Given the description of an element on the screen output the (x, y) to click on. 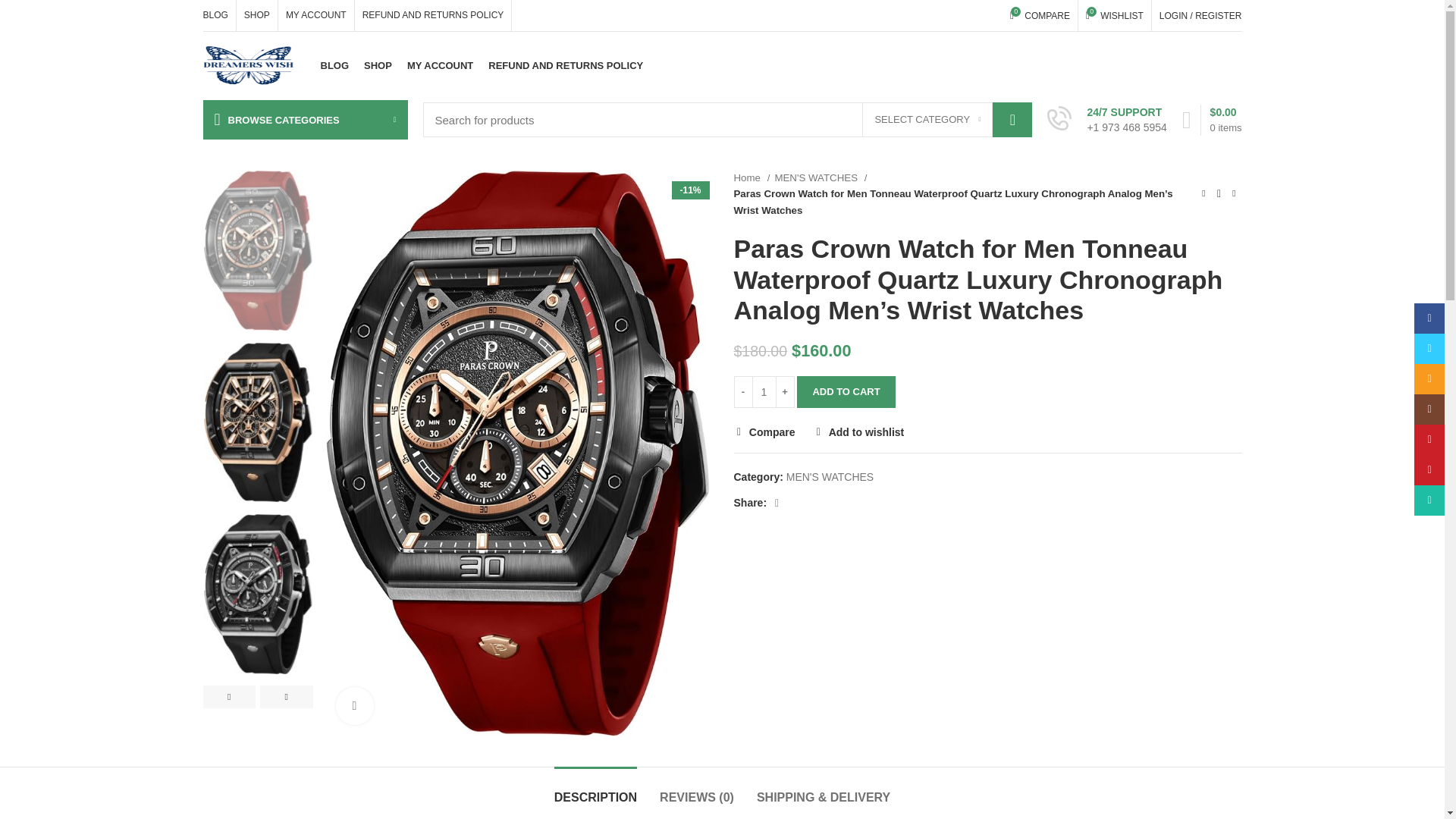
Search for products (727, 119)
BLOG (334, 65)
BLOG (215, 15)
My account (1200, 15)
REFUND AND RETURNS POLICY (433, 15)
SELECT CATEGORY (1114, 15)
SHOP (926, 119)
REFUND AND RETURNS POLICY (256, 15)
SELECT CATEGORY (565, 65)
Compare products (926, 119)
SHOP (1040, 15)
My Wishlist (1040, 15)
Shopping cart (377, 65)
